Given the description of an element on the screen output the (x, y) to click on. 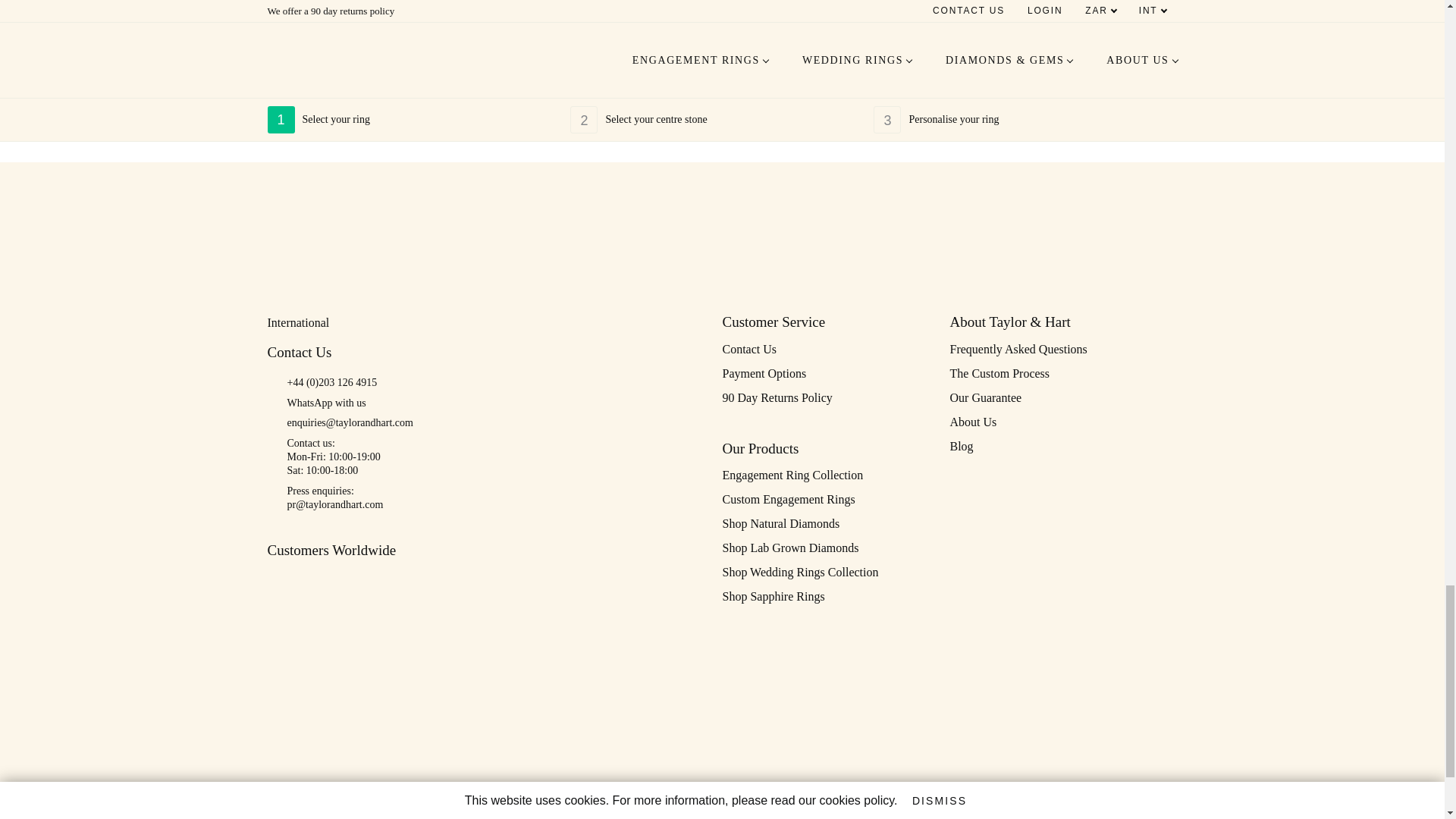
As seen in magazines (889, 211)
As seen in magazines (1013, 211)
As seen in magazines (669, 211)
As seen in magazines (426, 211)
As seen in magazines (541, 211)
As seen in magazines (783, 211)
